Given the description of an element on the screen output the (x, y) to click on. 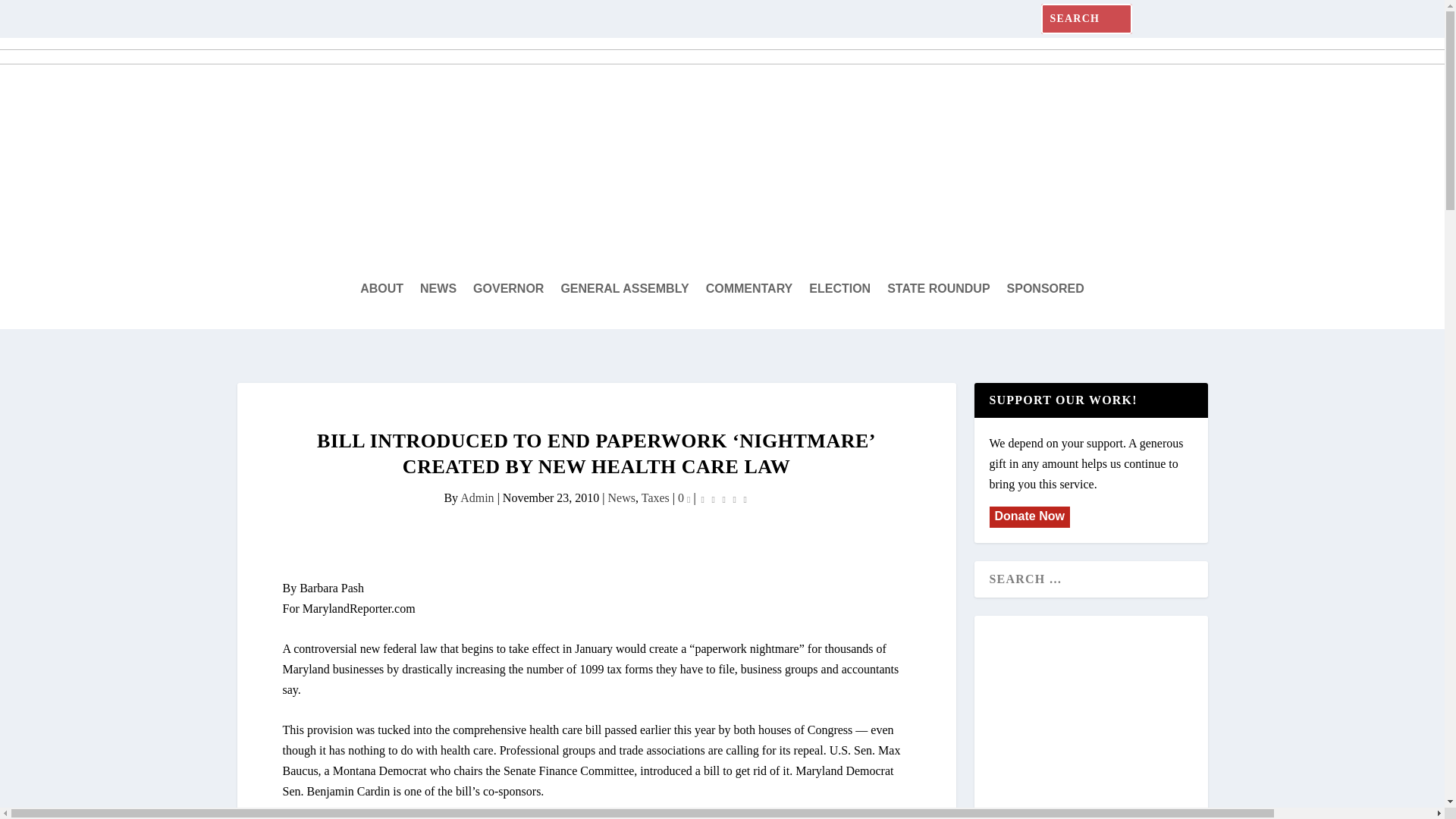
Search (29, 15)
Donate Now (1028, 515)
Posts by admin (476, 497)
0 (684, 497)
GENERAL ASSEMBLY (624, 288)
GOVERNOR (508, 288)
Search (34, 14)
Admin (476, 497)
STATE ROUNDUP (938, 288)
ELECTION (839, 288)
